Given the description of an element on the screen output the (x, y) to click on. 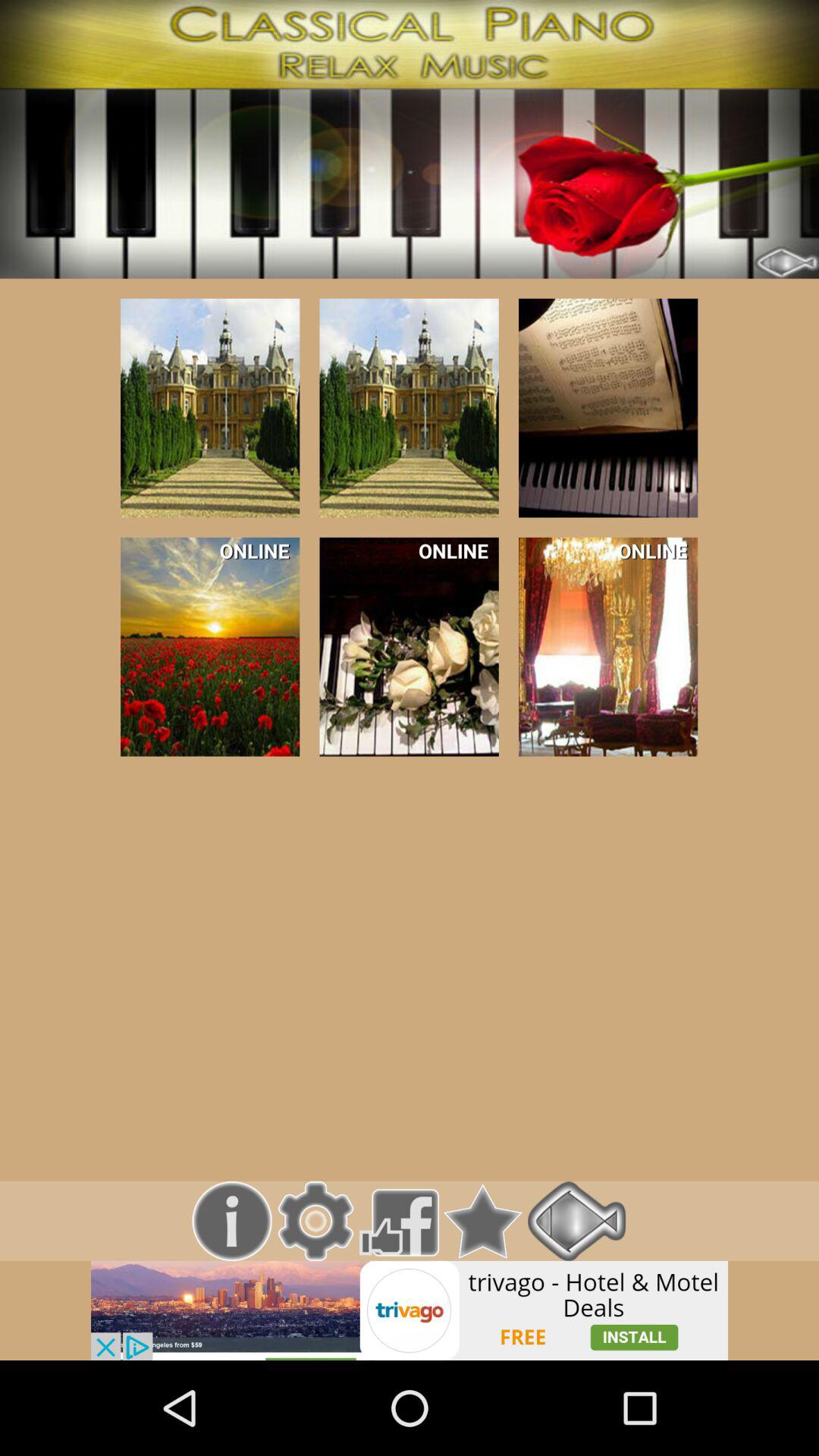
select the option (408, 407)
